Given the description of an element on the screen output the (x, y) to click on. 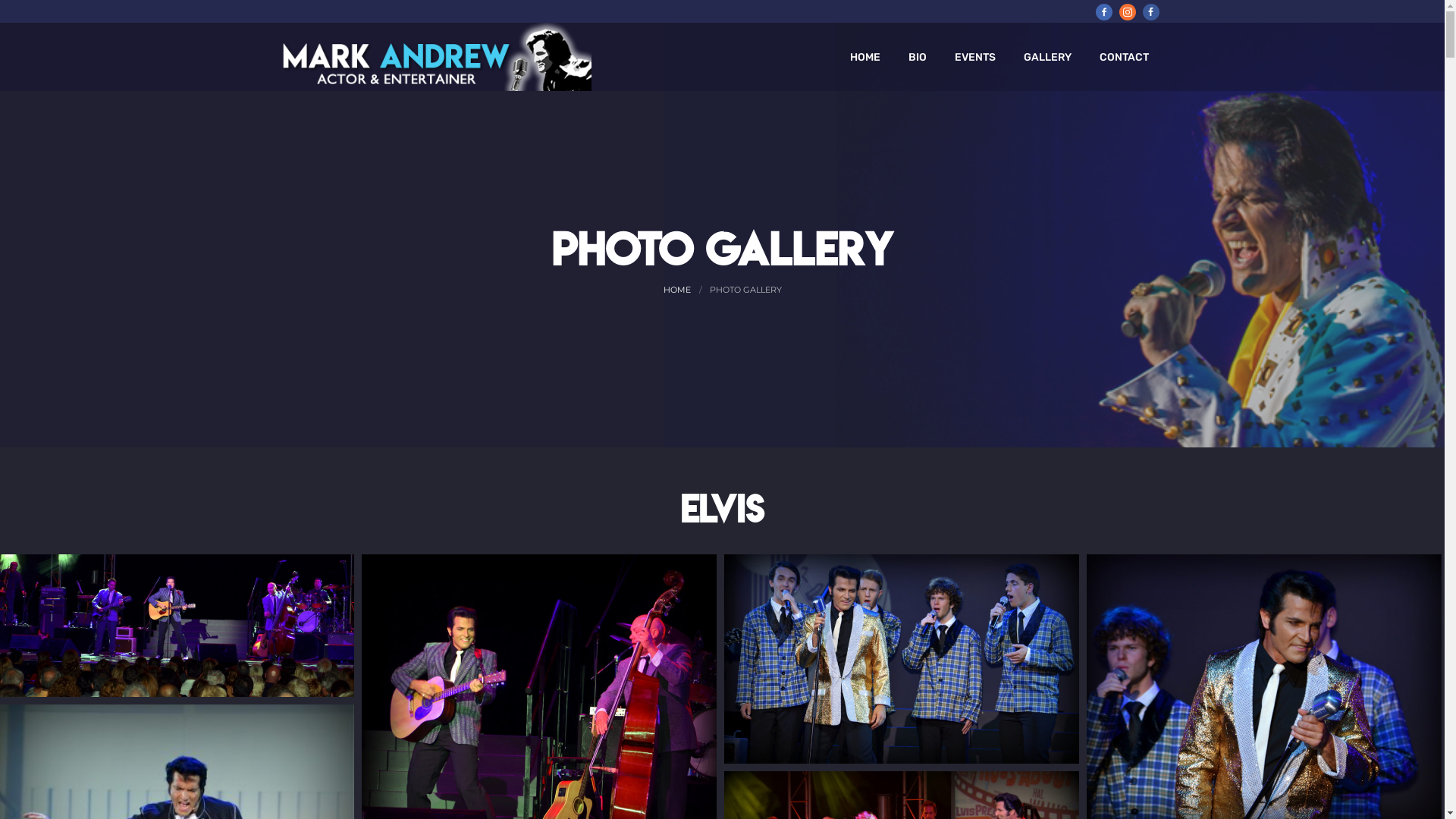
Mark Andrew Instagram Element type: hover (1127, 11)
GALLERY Element type: text (1047, 56)
BIO Element type: text (917, 56)
HOME Element type: text (864, 56)
CONTACT Element type: text (1123, 56)
EVENTS Element type: text (974, 56)
Mark Andrew Official Facebook Page Element type: hover (1103, 11)
HOME Element type: text (676, 289)
Mark Andrew Fan Page Element type: hover (1150, 11)
